Given the description of an element on the screen output the (x, y) to click on. 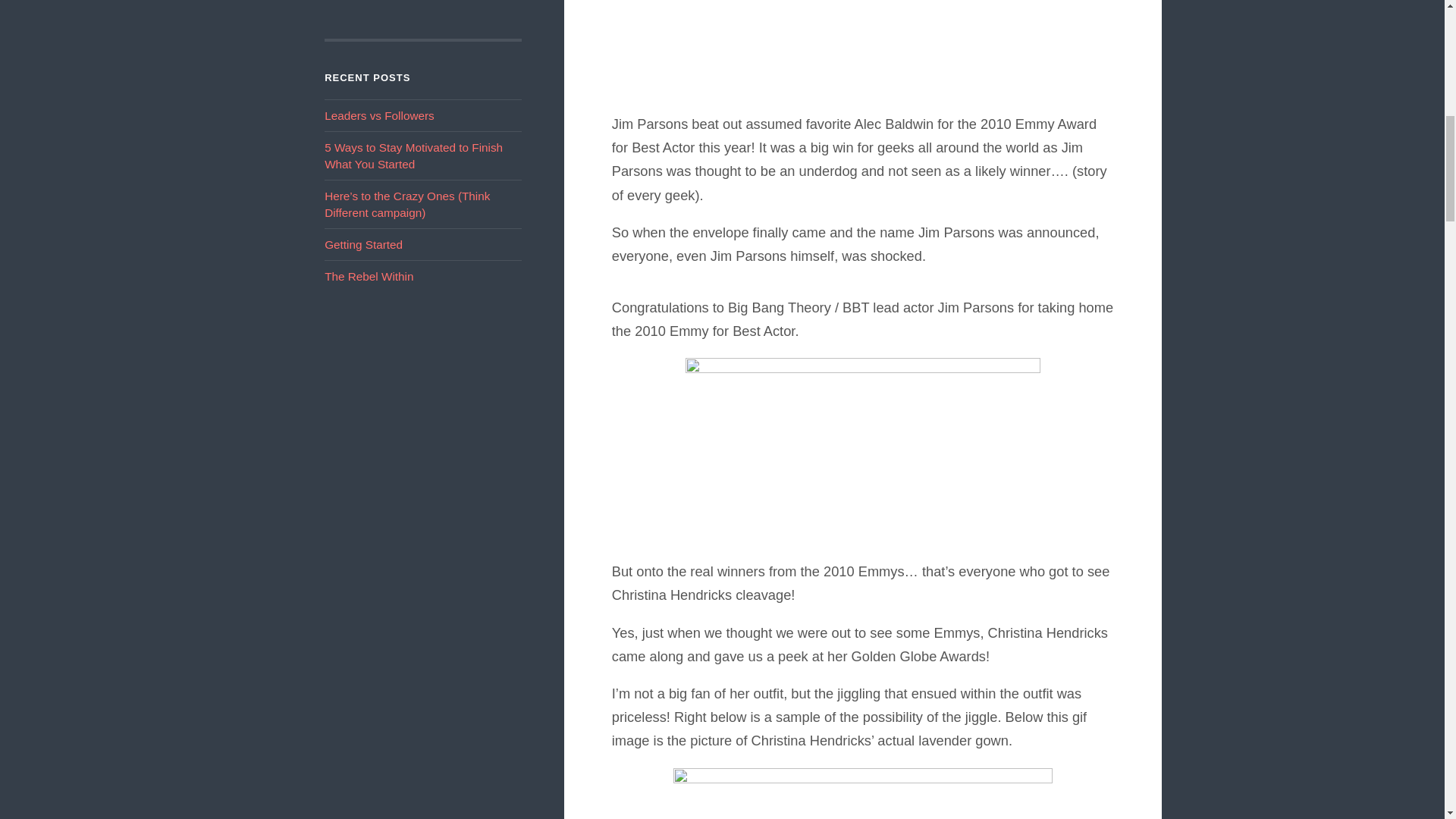
The Rebel Within (368, 276)
5 Ways to Stay Motivated to Finish What You Started (413, 154)
Leaders vs Followers (378, 115)
Jiggling (862, 792)
bbt--Christina-Hendricks-emmy-awards-2010-emmys (862, 49)
Getting Started (363, 244)
bbt-big-bang-theory-jim-parsons-emmy-2010-emmys-award (863, 451)
